Given the description of an element on the screen output the (x, y) to click on. 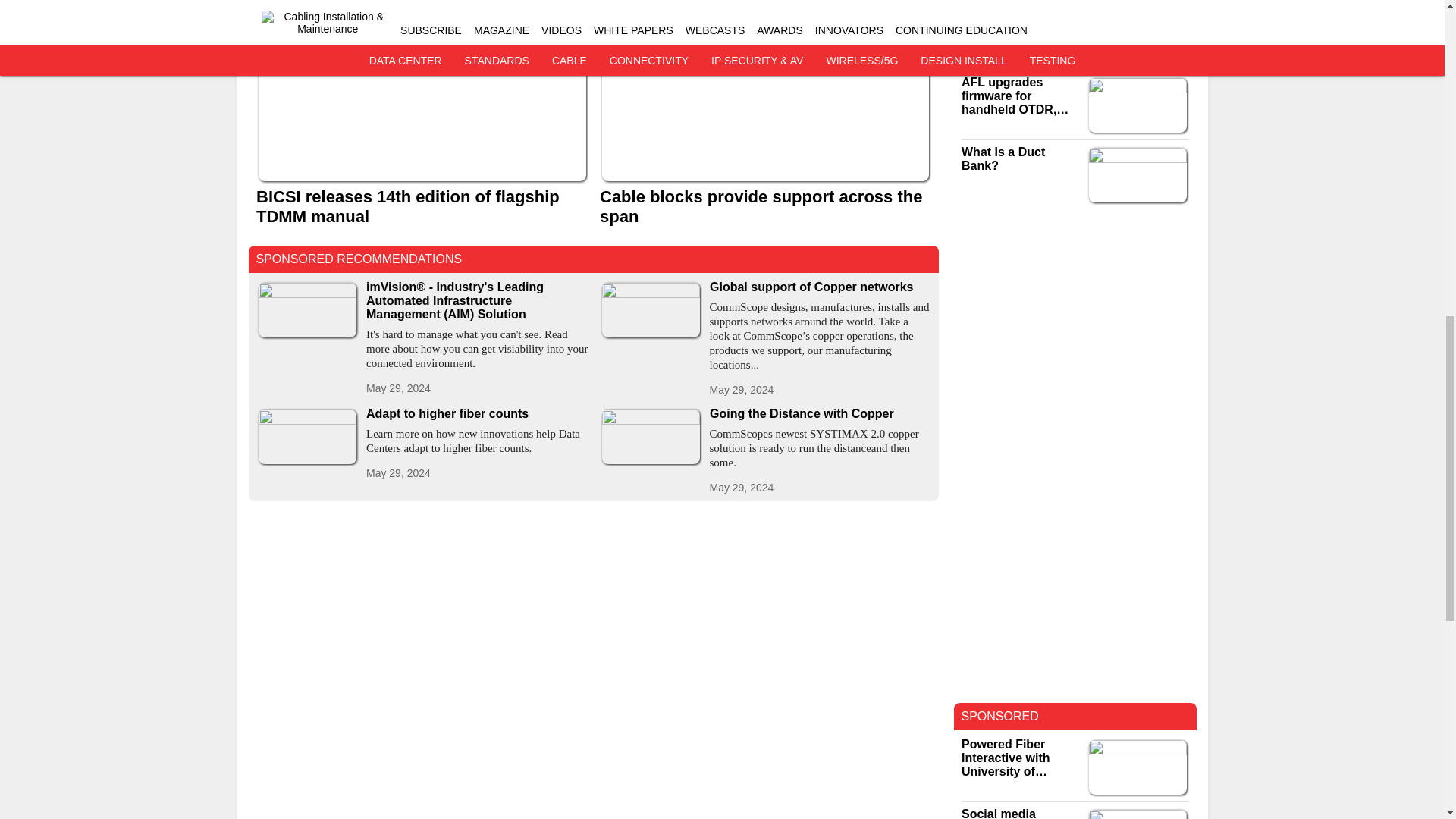
BICSI releases 14th edition of flagship TDMM manual (422, 206)
Cable blocks provide support across the span (764, 206)
Global support of Copper networks (820, 287)
Adapt to higher fiber counts (476, 413)
